Given the description of an element on the screen output the (x, y) to click on. 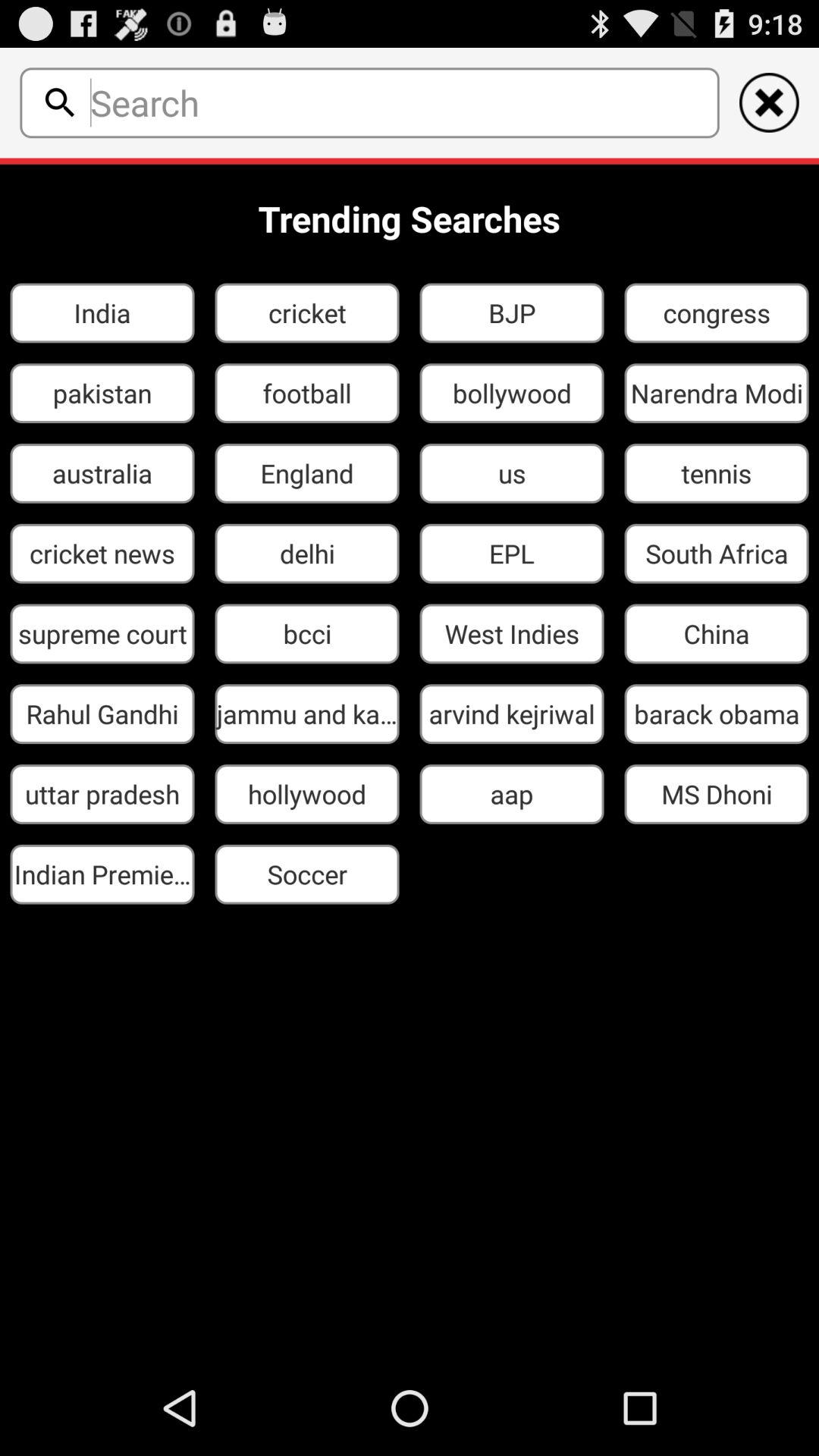
cancel search (769, 102)
